Given the description of an element on the screen output the (x, y) to click on. 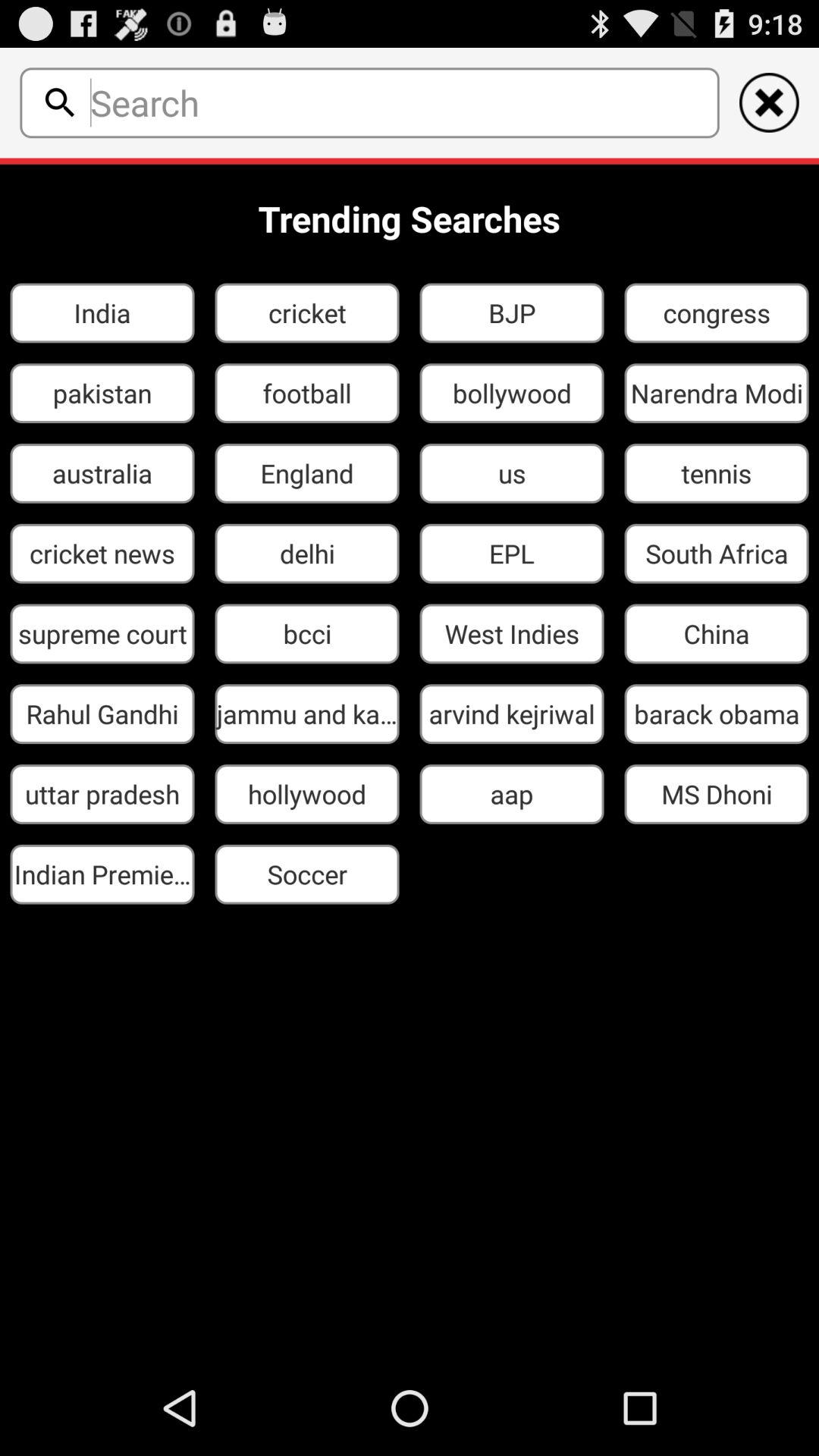
cancel search (769, 102)
